Given the description of an element on the screen output the (x, y) to click on. 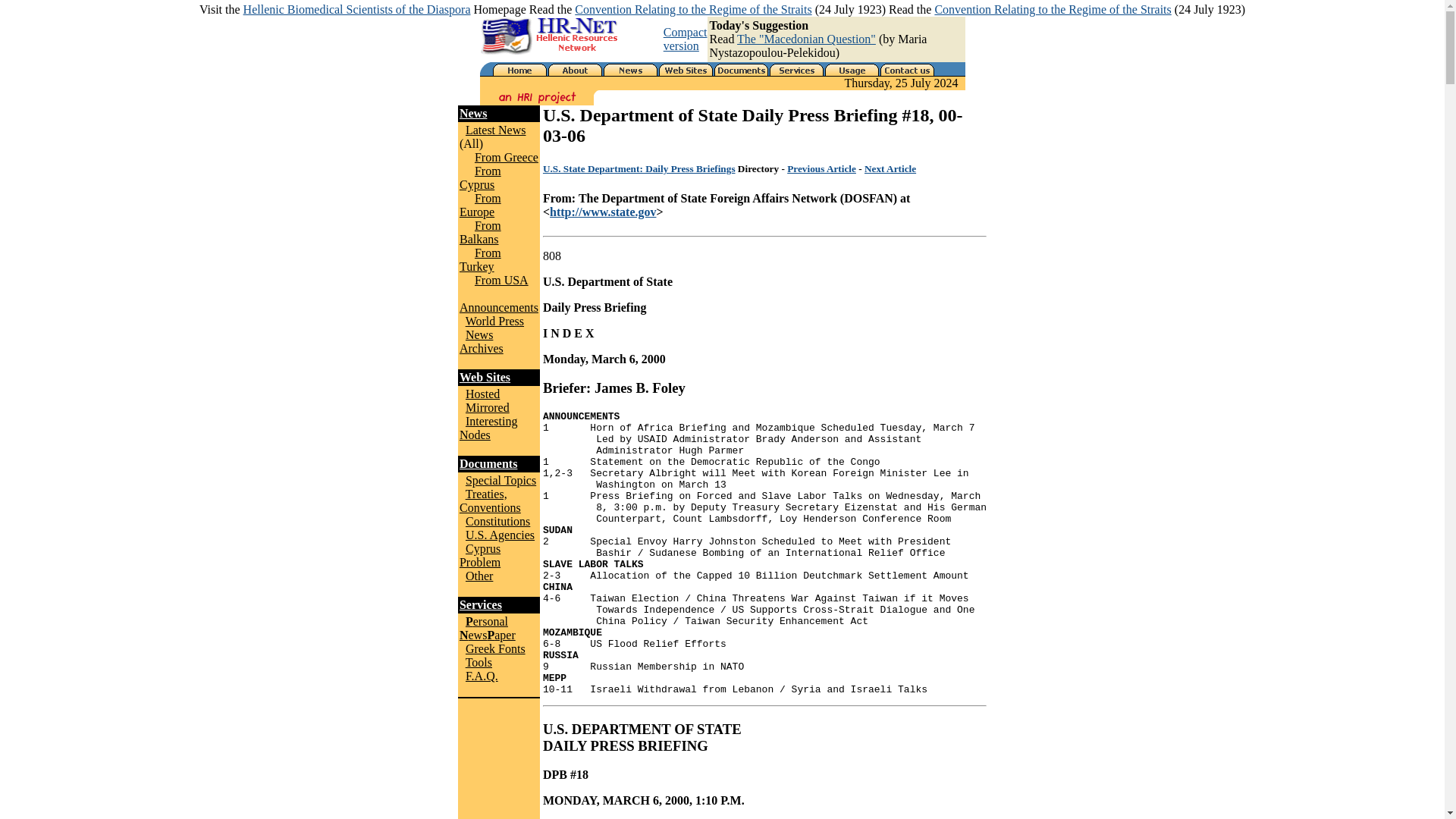
From Europe (480, 204)
Constitutions (497, 521)
U.S. Agencies (499, 534)
The "Macedonian Question" (806, 38)
Compact version (685, 38)
Personal NewsPaper (487, 628)
Hosted (482, 393)
From Turkey (480, 259)
World Press (494, 320)
Interesting Nodes (488, 427)
Special Topics (500, 480)
Treaties, Conventions (490, 500)
News Archives (481, 341)
Announcements (499, 307)
Hellenic Biomedical Scientists of the Diaspora (356, 9)
